Given the description of an element on the screen output the (x, y) to click on. 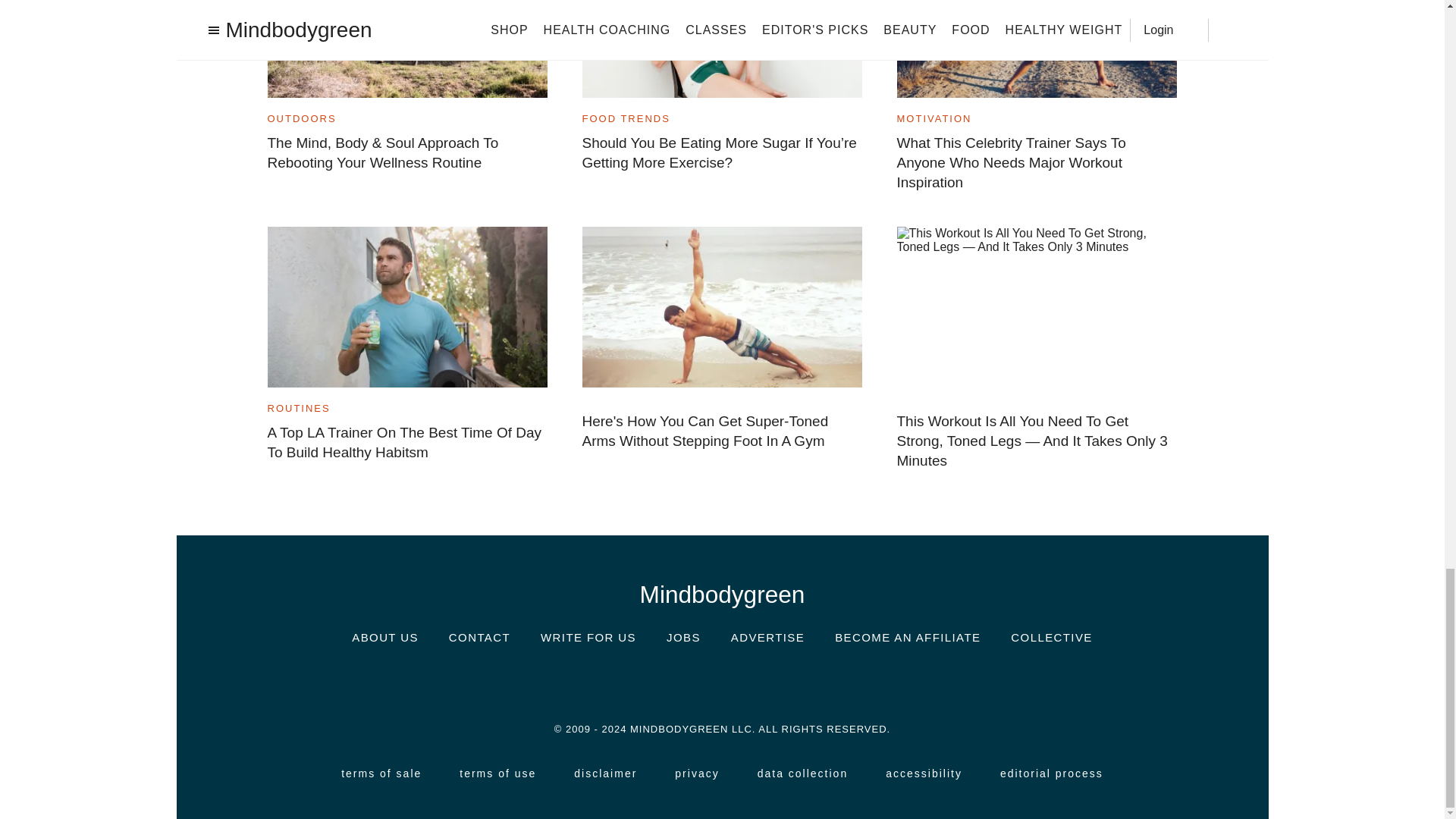
Instagram (630, 680)
YouTube (812, 680)
FOOD TRENDS (625, 118)
Facebook (676, 680)
Pinterest (767, 681)
Twitter (721, 681)
OUTDOORS (301, 118)
